Given the description of an element on the screen output the (x, y) to click on. 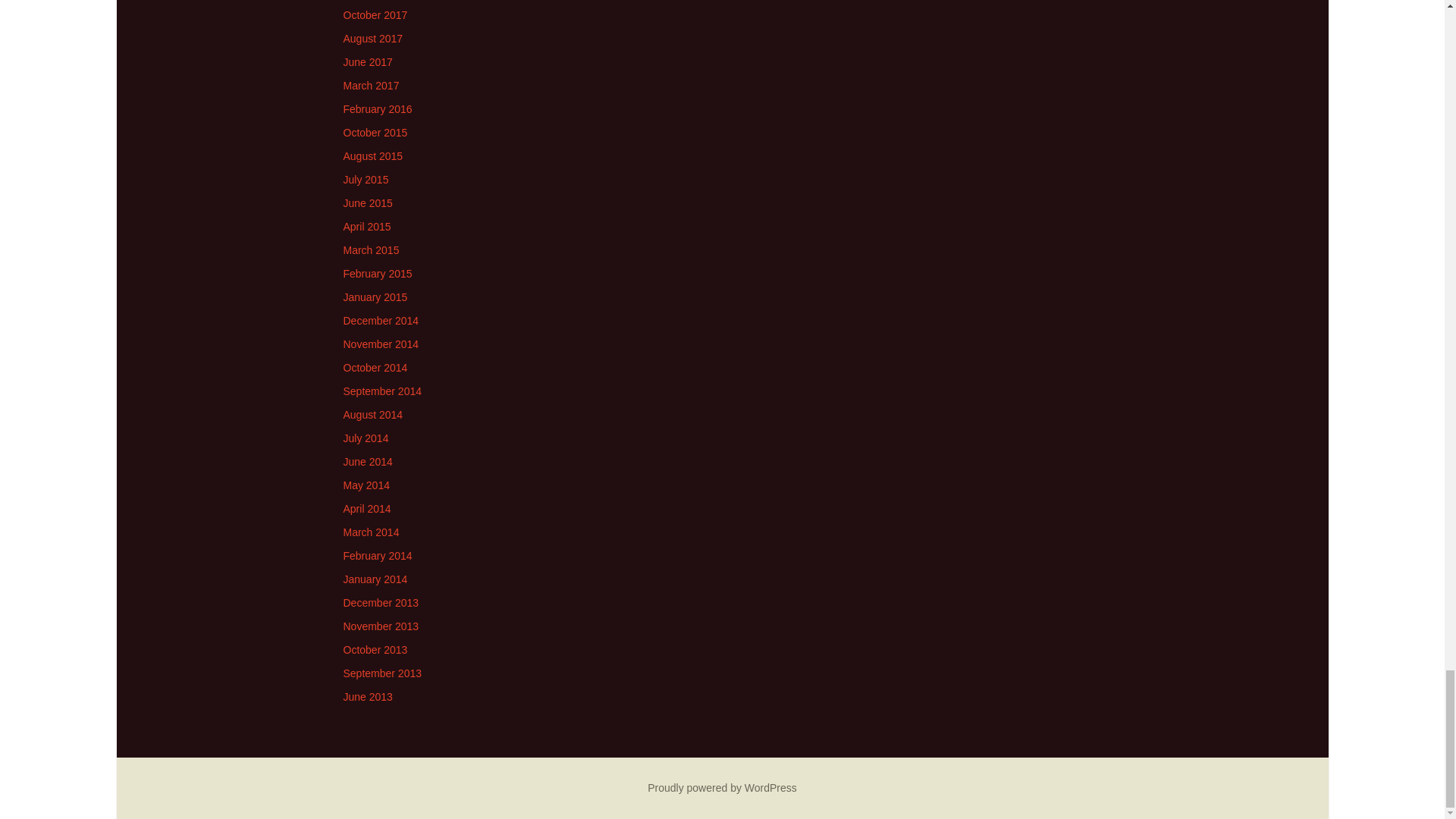
Semantic Personal Publishing Platform (721, 787)
